Given the description of an element on the screen output the (x, y) to click on. 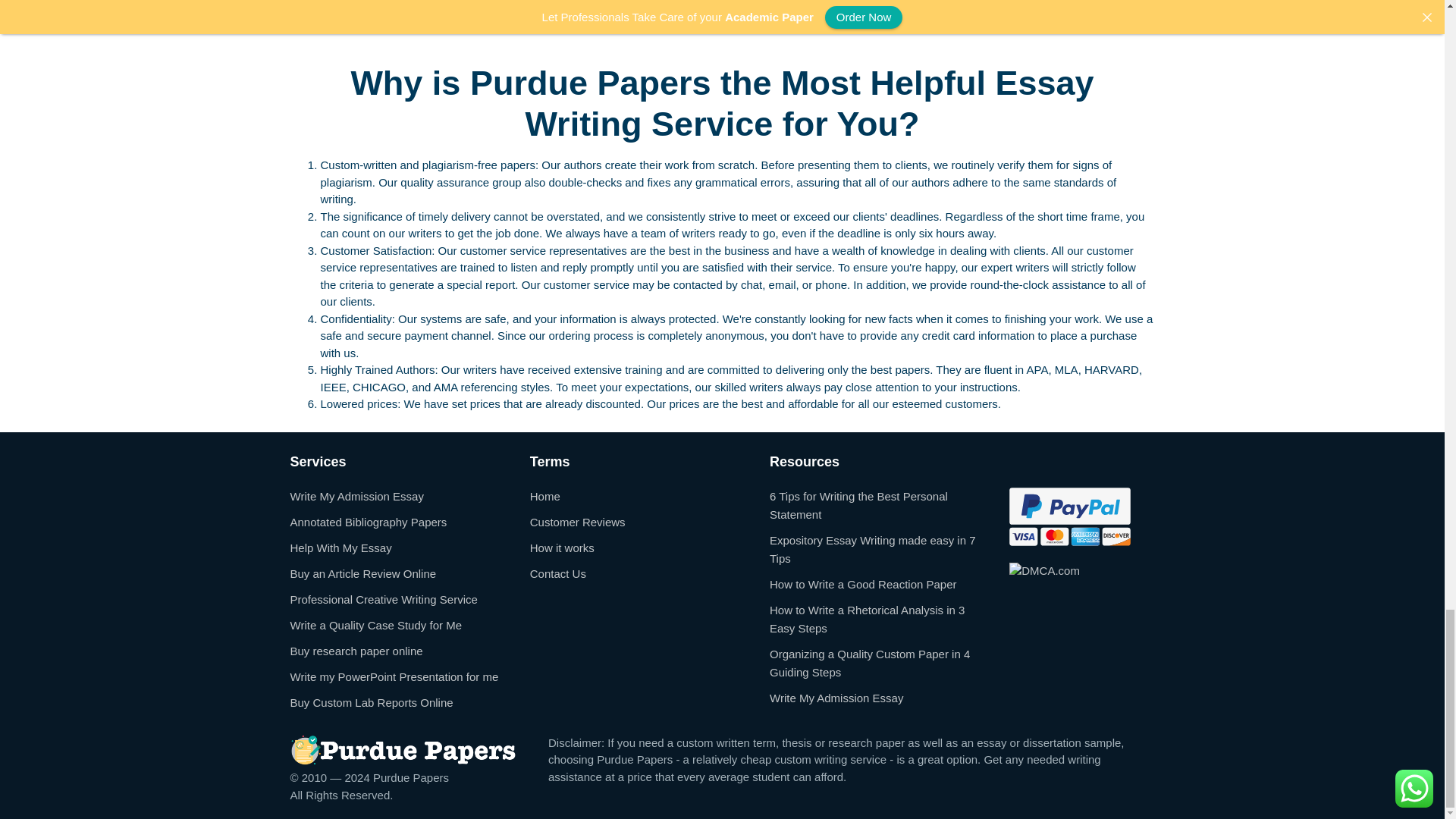
Help With My Essay (340, 546)
Read more (629, 12)
Write My Admission Essay (356, 495)
Annotated Bibliography Papers (367, 521)
Read more (329, 12)
DMCA (1044, 569)
